Given the description of an element on the screen output the (x, y) to click on. 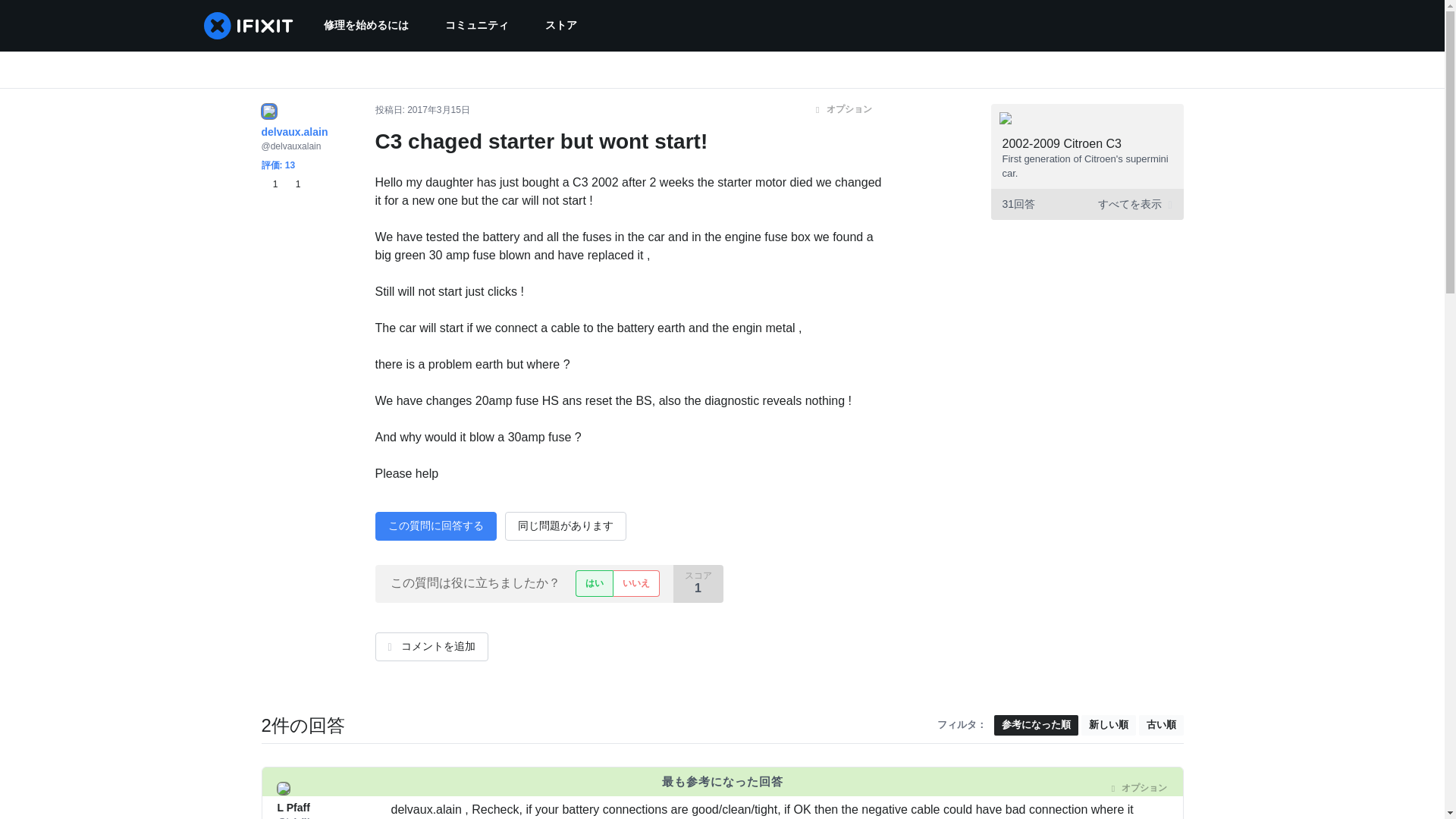
2002-2009 Citroen C3 (1062, 143)
Wed, 15 Mar 2017 12:12:11 -0700 (438, 109)
Wed, 15 Mar 2017 15:20:38 -0700 (454, 787)
1 1 (279, 184)
